Given the description of an element on the screen output the (x, y) to click on. 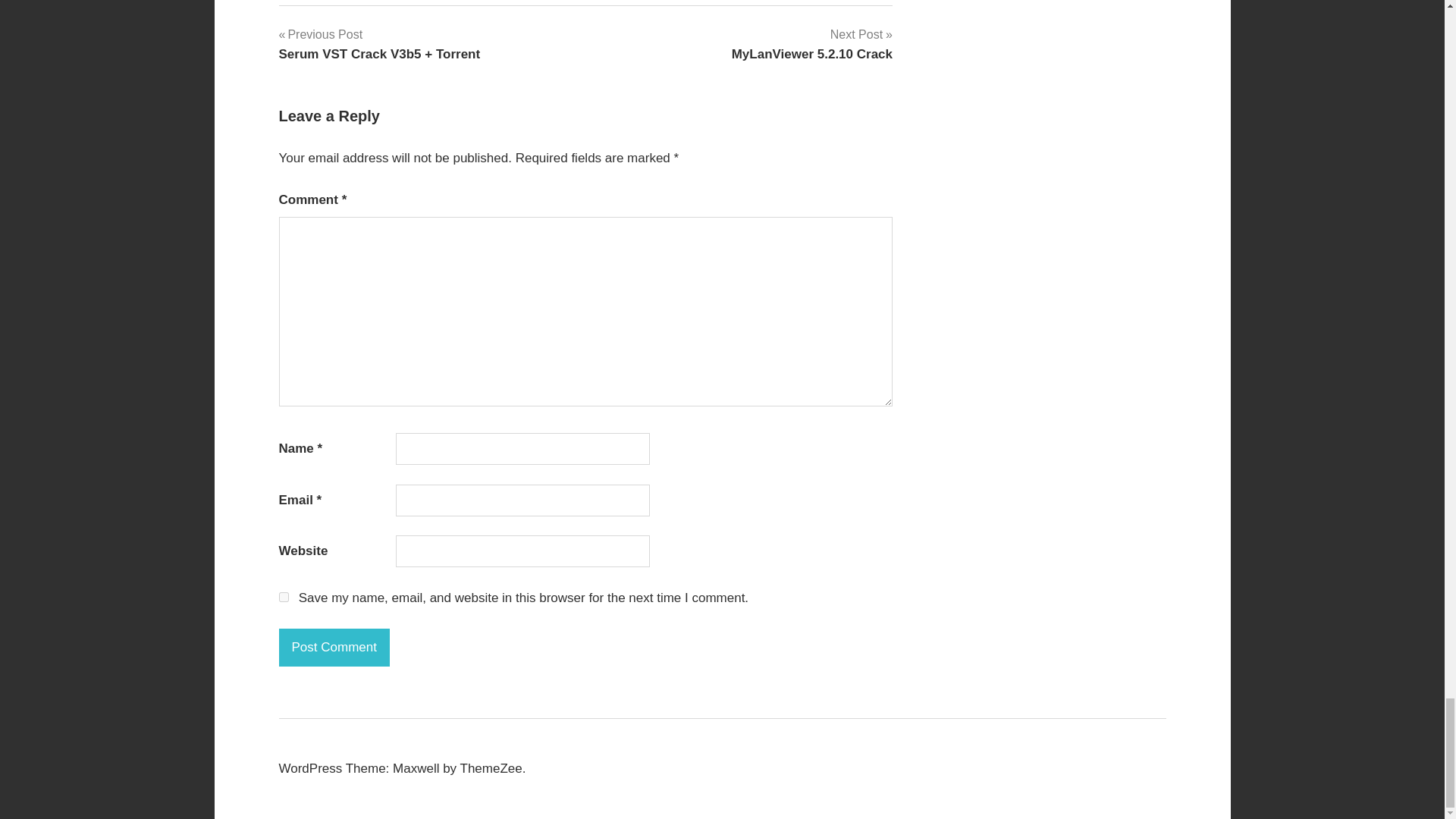
Post Comment (334, 647)
Post Comment (812, 43)
yes (334, 647)
